Given the description of an element on the screen output the (x, y) to click on. 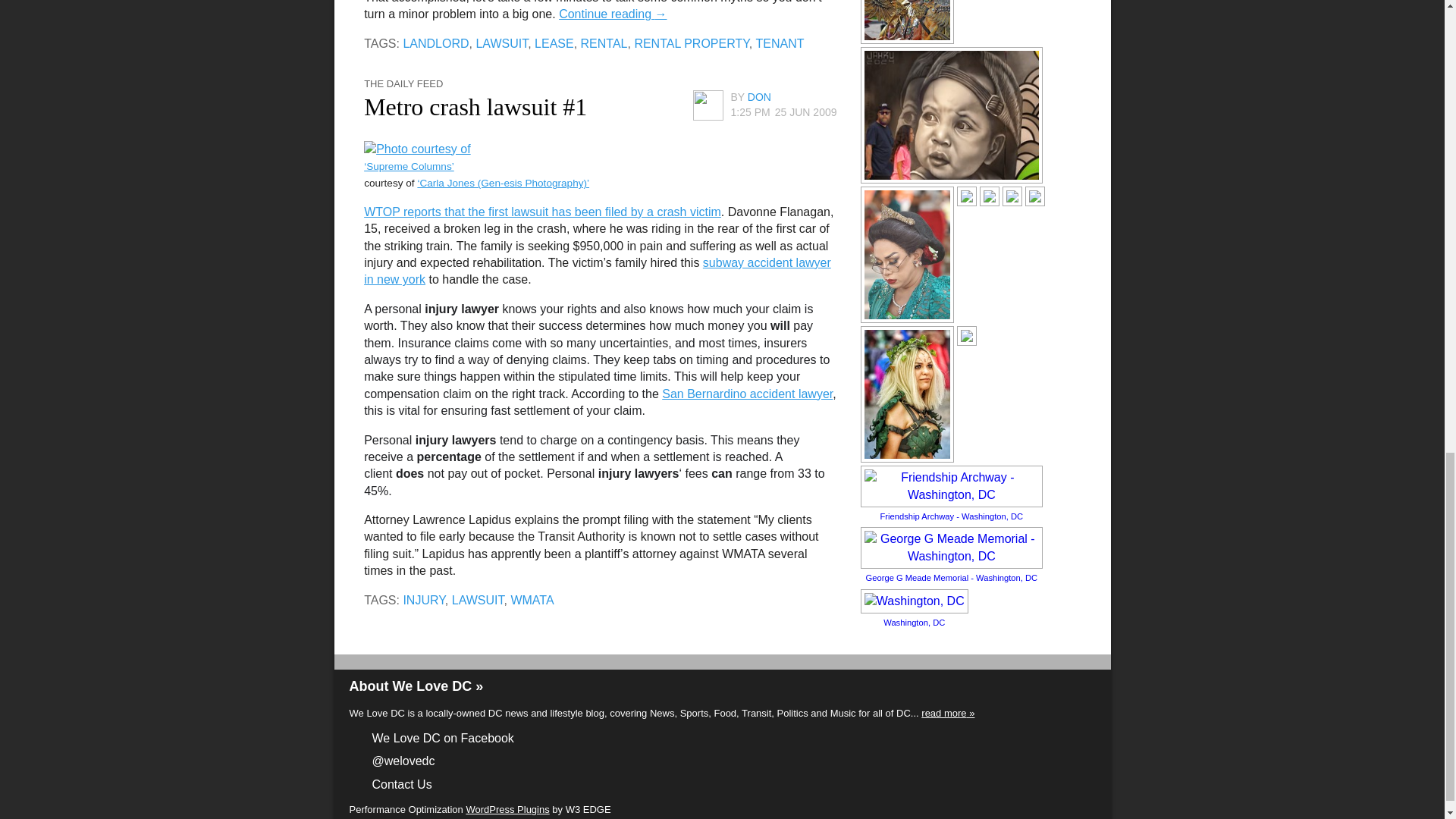
Posts by Don (759, 96)
RENTAL (603, 42)
RENTAL PROPERTY (690, 42)
LAWSUIT (501, 42)
LEASE (553, 42)
LANDLORD (435, 42)
